Given the description of an element on the screen output the (x, y) to click on. 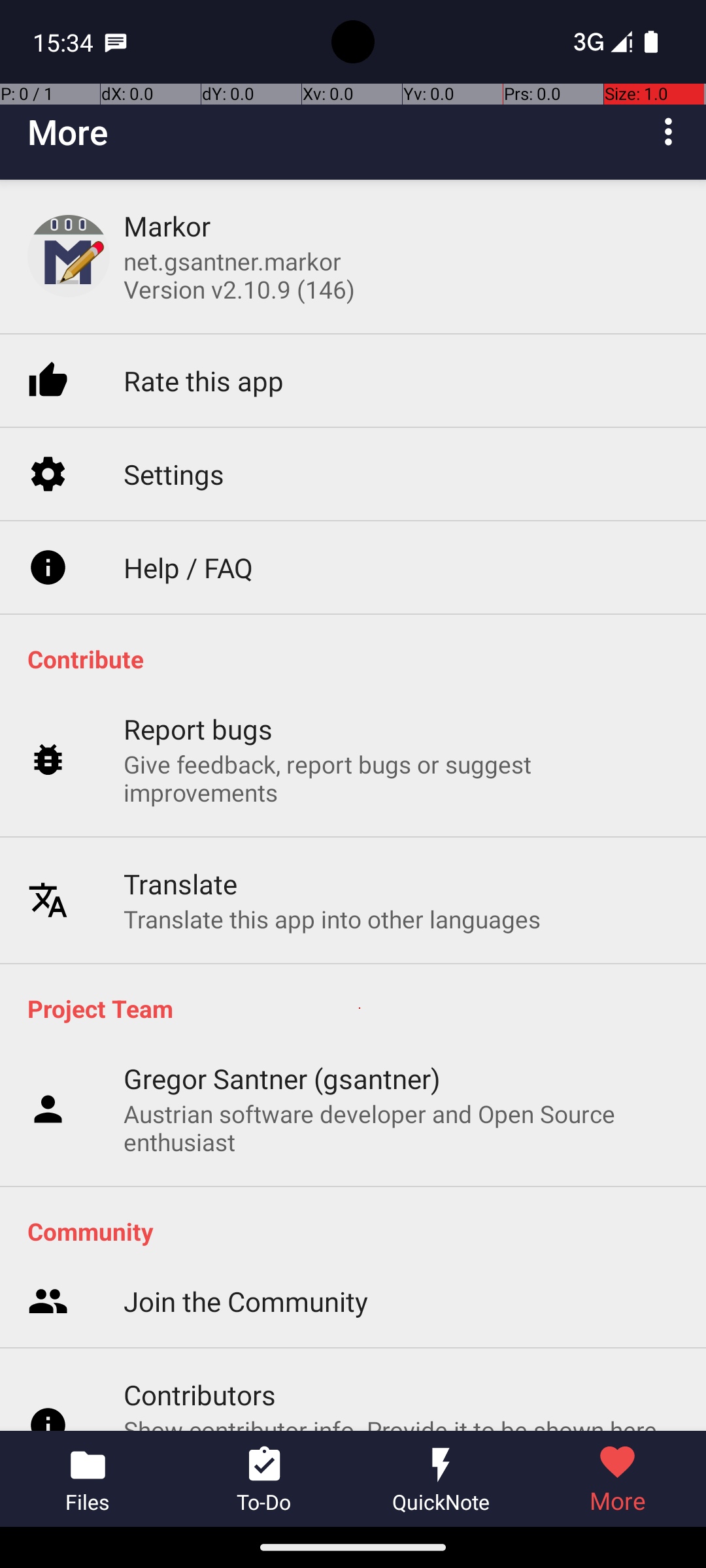
Contribute Element type: android.widget.TextView (359, 658)
Project Team Element type: android.widget.TextView (359, 1008)
Community Element type: android.widget.TextView (359, 1230)
net.gsantner.markor
Version v2.10.9 (146) Element type: android.widget.TextView (239, 274)
Rate this app Element type: android.widget.TextView (203, 317)
Help / FAQ Element type: android.widget.TextView (188, 501)
Report bugs Element type: android.widget.TextView (198, 661)
Give feedback, report bugs or suggest improvements Element type: android.widget.TextView (400, 711)
Translate Element type: android.widget.TextView (180, 815)
Translate this app into other languages Element type: android.widget.TextView (331, 851)
Gregor Santner (gsantner) Element type: android.widget.TextView (281, 1077)
Austrian software developer and Open Source enthusiast Element type: android.widget.TextView (400, 1127)
Join the Community Element type: android.widget.TextView (245, 1078)
Contributors Element type: android.widget.TextView (199, 1170)
Show contributor info. Provide it to be shown here on an opt-in basis after contributing Element type: android.widget.TextView (400, 1220)
